Given the description of an element on the screen output the (x, y) to click on. 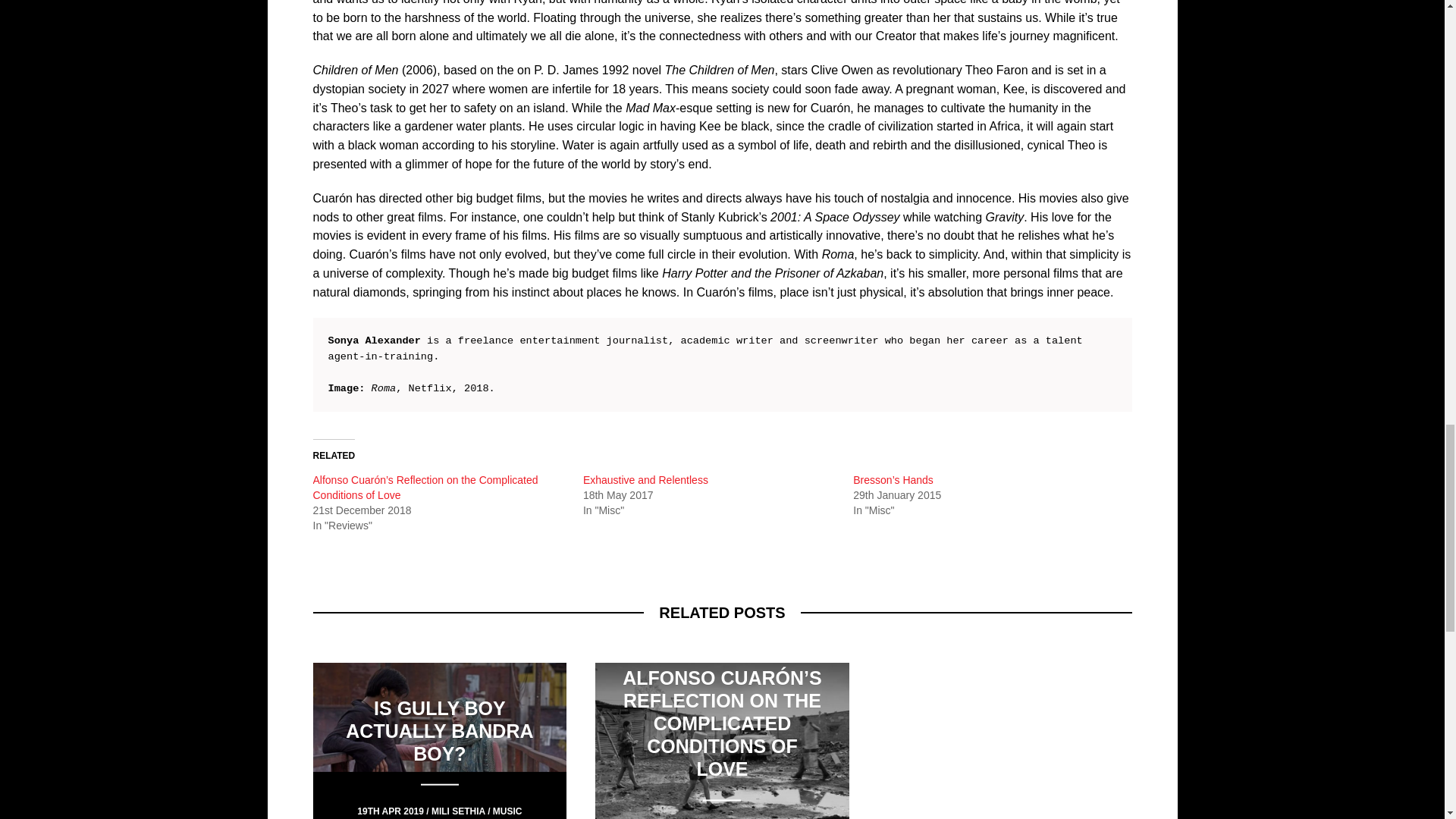
MUSIC (507, 810)
Exhaustive and Relentless (645, 479)
Exhaustive and Relentless (645, 479)
